Given the description of an element on the screen output the (x, y) to click on. 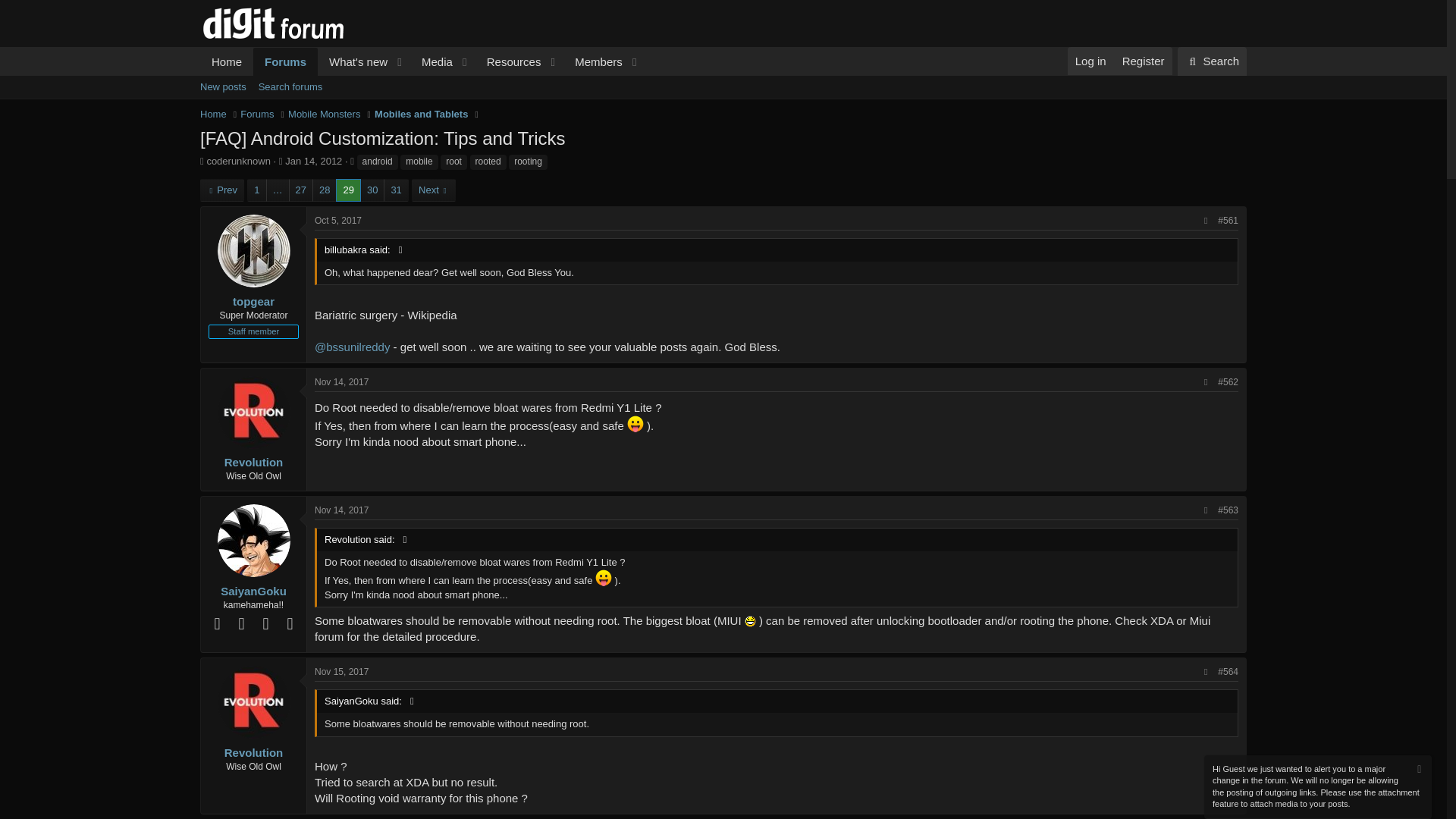
Resources (509, 61)
Stick Out Tongue    :p (635, 423)
Home (213, 114)
Nov 14, 2017 at 8:20 PM (341, 381)
What's new (352, 61)
Search (1211, 61)
Search (1211, 61)
Oct 5, 2017 at 7:53 AM (337, 220)
Jan 14, 2012 at 12:51 AM (722, 104)
Forums (313, 161)
Stick Out Tongue    :p (422, 61)
Nov 15, 2017 at 4:15 AM (285, 61)
New posts (603, 577)
